Given the description of an element on the screen output the (x, y) to click on. 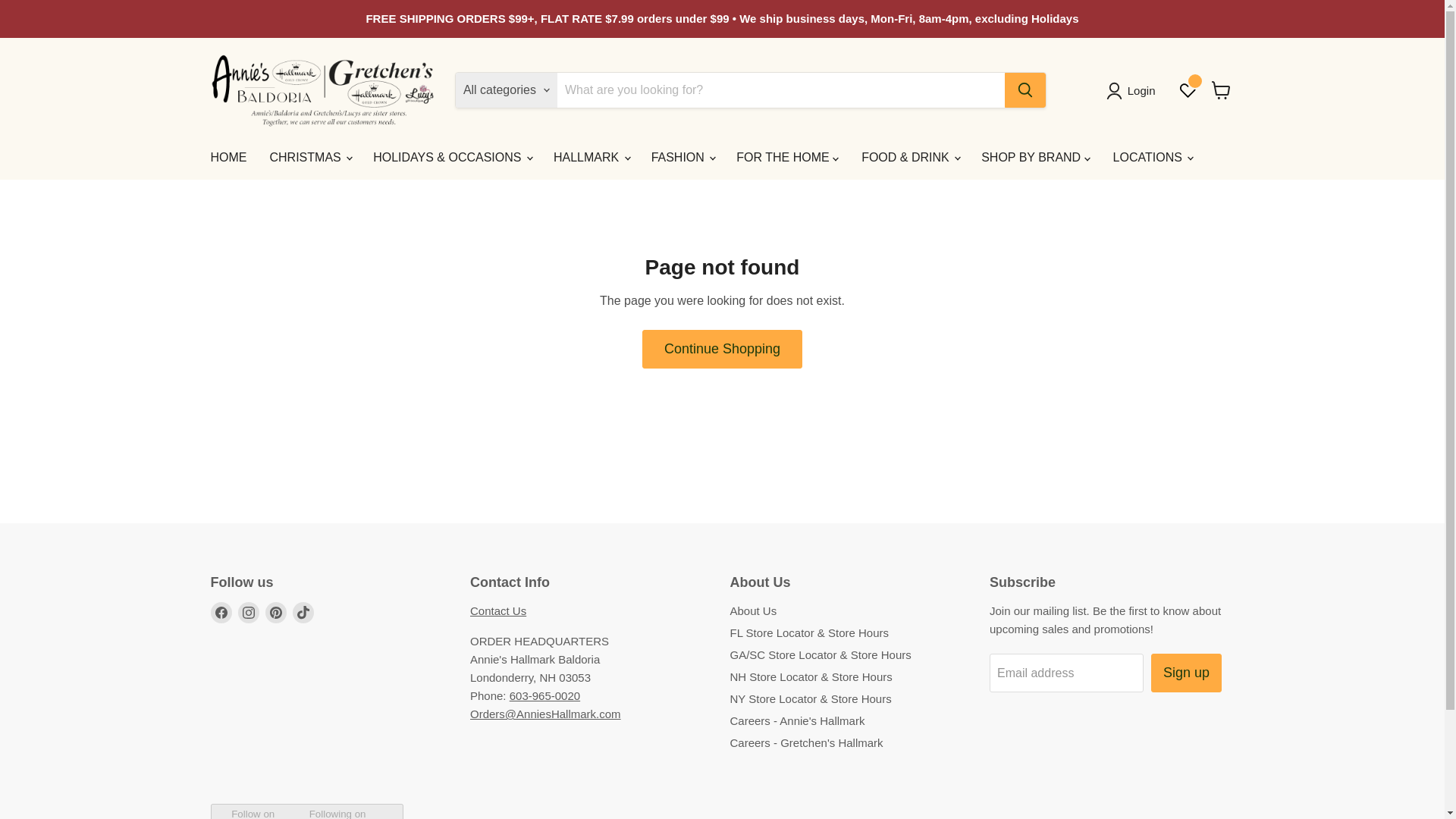
tel:603-965-0020 (544, 695)
Instagram (248, 612)
Pinterest (275, 612)
Facebook (221, 612)
View cart (1221, 90)
TikTok (303, 612)
Contact Us (497, 610)
Login (1132, 90)
HOME (227, 157)
